Given the description of an element on the screen output the (x, y) to click on. 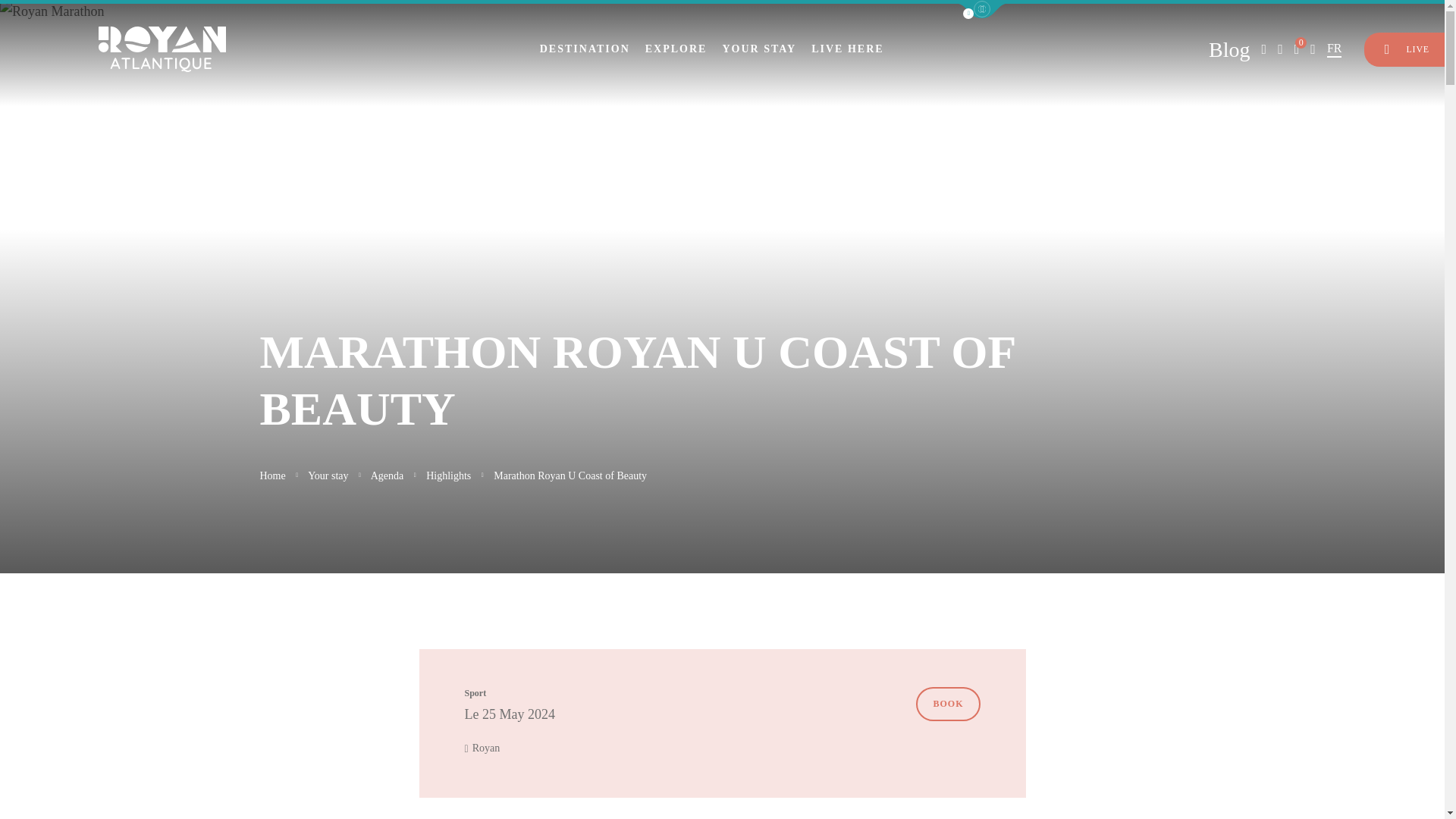
Atlantic Royan (162, 49)
DESTINATION (585, 49)
